Given the description of an element on the screen output the (x, y) to click on. 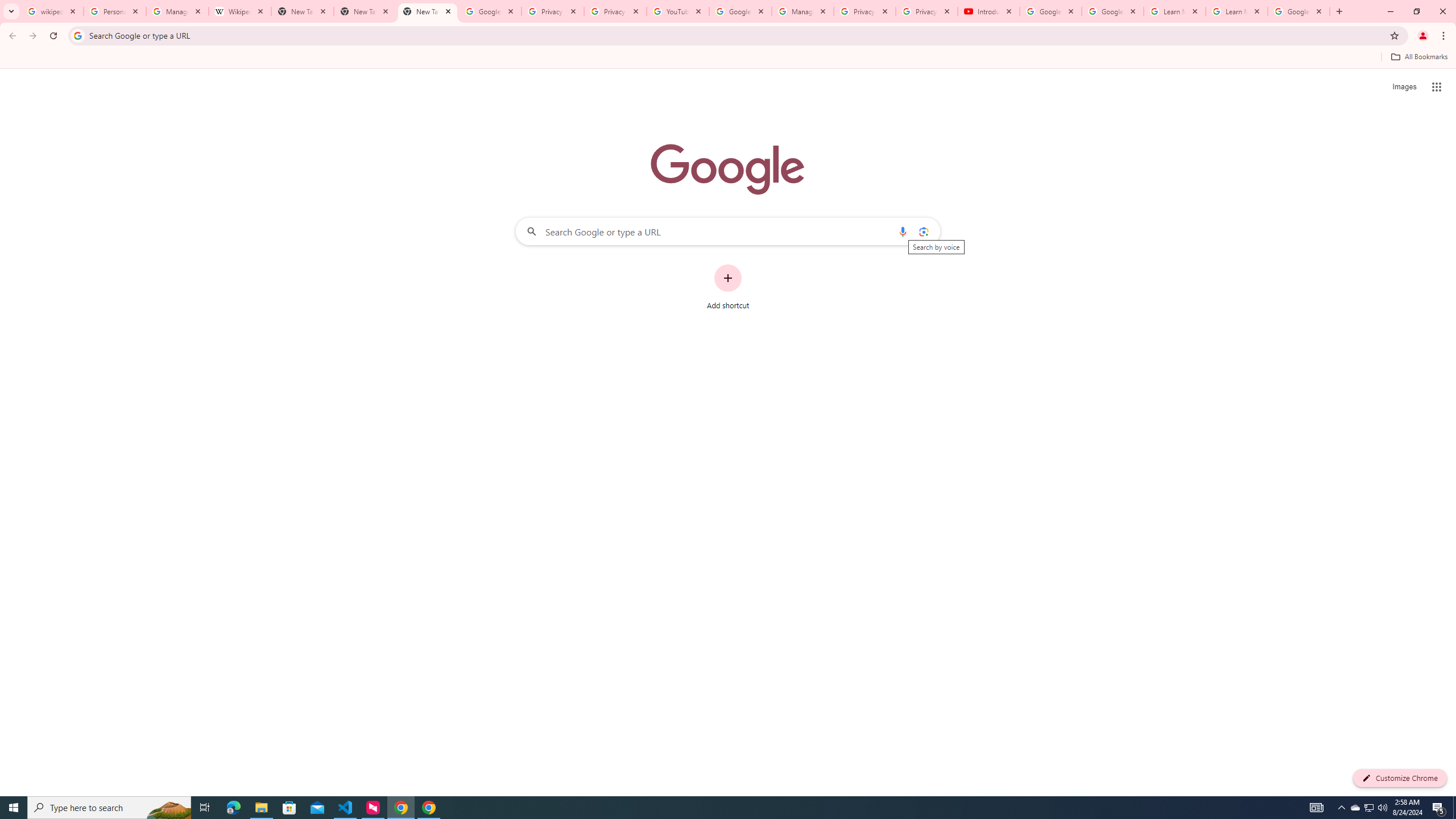
Introduction | Google Privacy Policy - YouTube (988, 11)
